Given the description of an element on the screen output the (x, y) to click on. 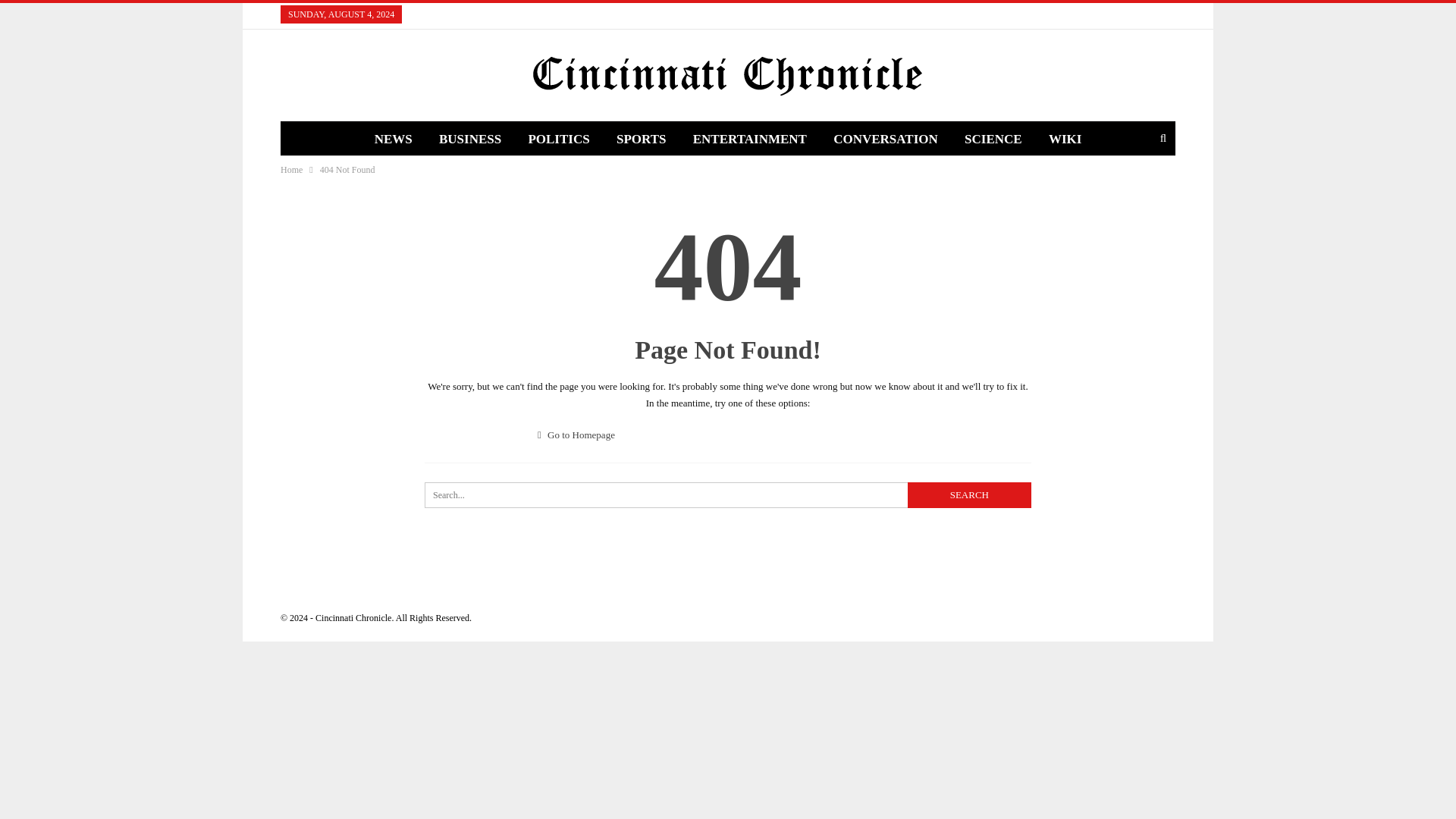
Home (291, 169)
ENTERTAINMENT (749, 139)
POLITICS (558, 139)
SPORTS (641, 139)
WIKI (1064, 139)
Search (968, 494)
BUSINESS (470, 139)
Search (968, 494)
Search for: (727, 494)
Go to Homepage (575, 434)
Search (968, 494)
SCIENCE (992, 139)
NEWS (393, 139)
CONVERSATION (885, 139)
